Given the description of an element on the screen output the (x, y) to click on. 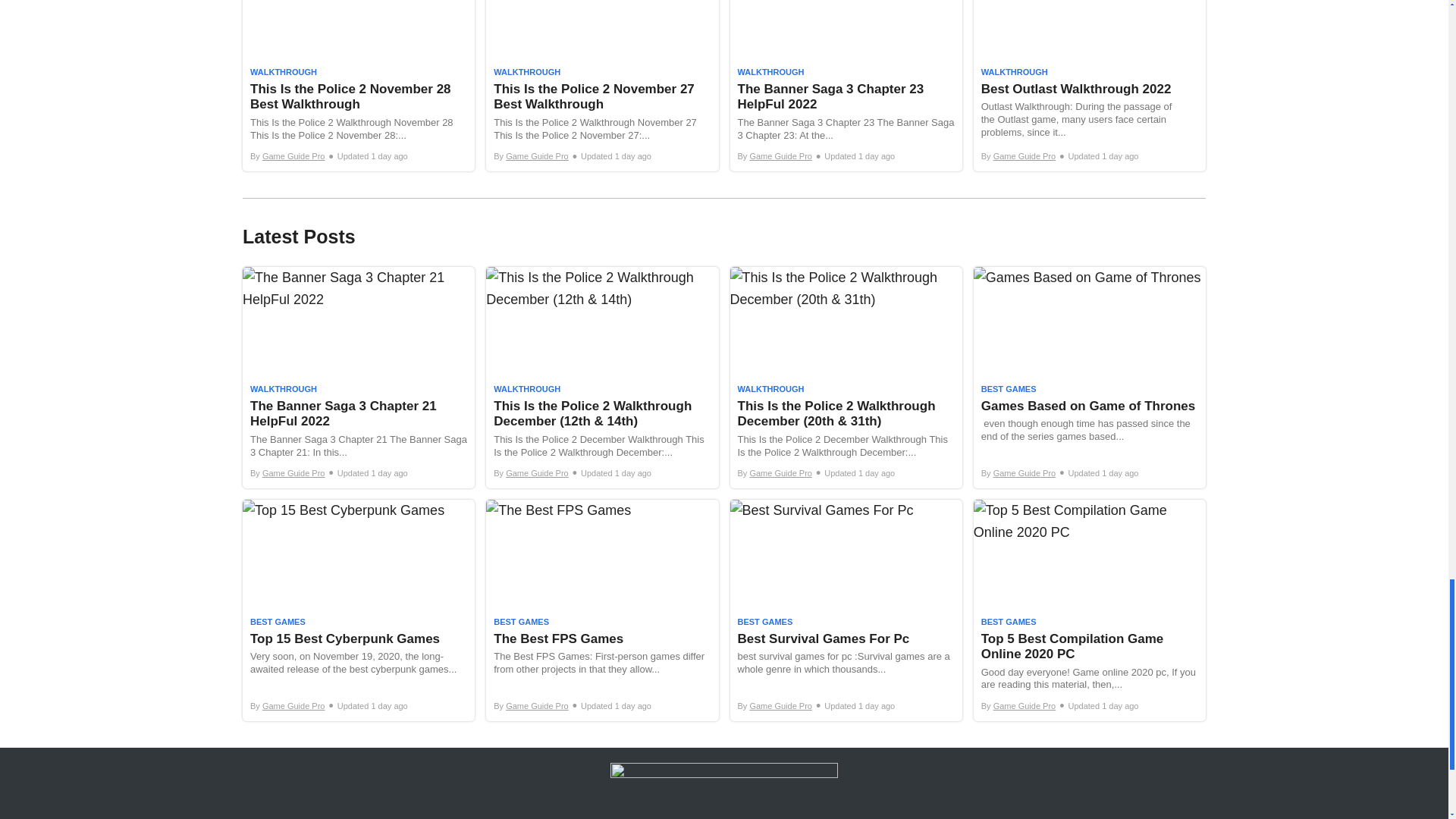
Permanent Link to The Banner Saga 3 Chapter 23 HelpFul 2022 (844, 85)
Permanent Link to The Banner Saga 3 Chapter 21 HelpFul 2022 (358, 377)
Permanent Link to Best Outlast Walkthrough 2022 (1089, 85)
